Given the description of an element on the screen output the (x, y) to click on. 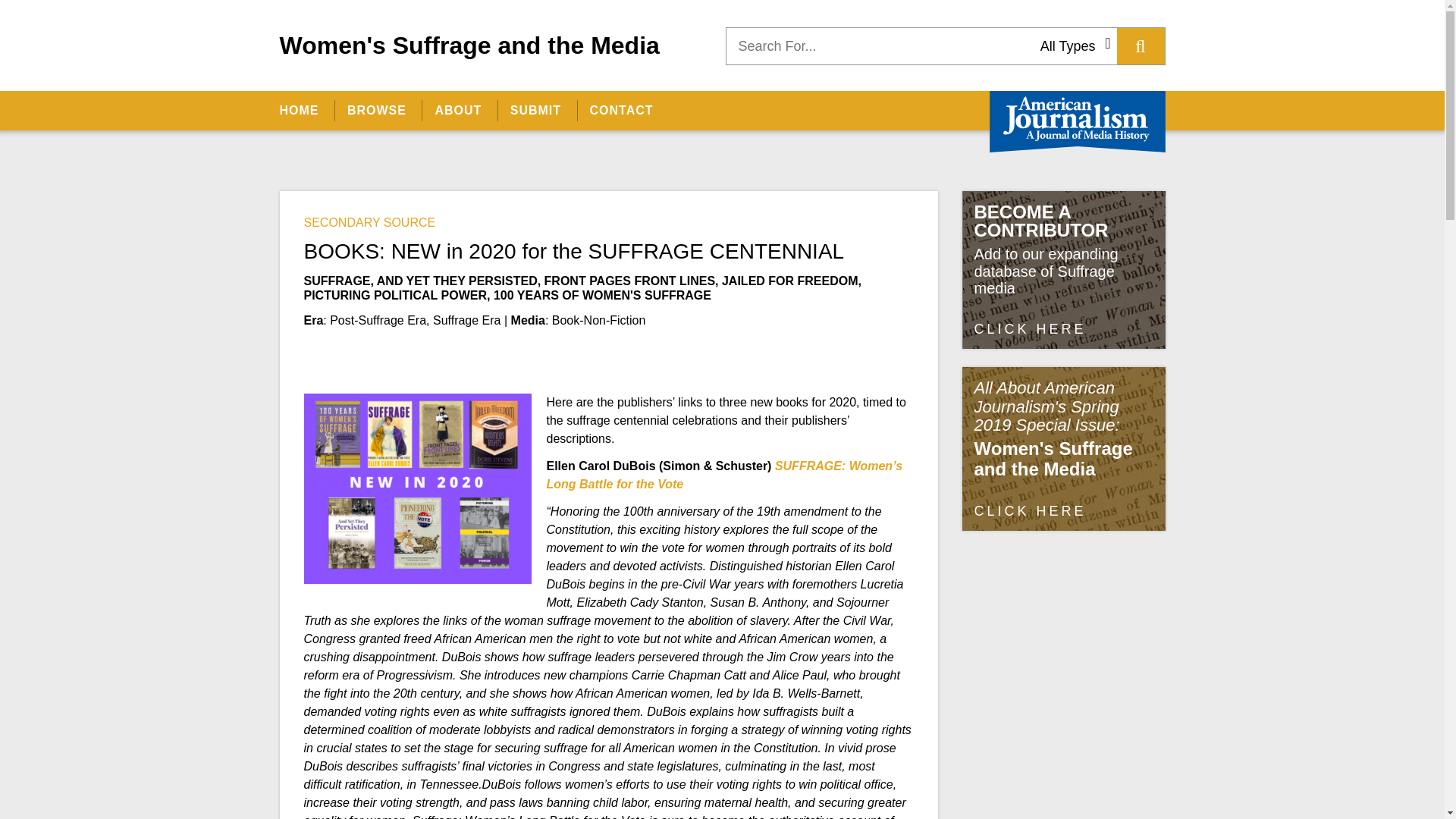
CONTACT (620, 110)
American Journalism: A Journal of Media History (1076, 121)
Women's Suffrage and the Media (469, 45)
ABOUT (457, 110)
HOME (304, 110)
BROWSE (376, 110)
SUBMIT (535, 110)
